Given the description of an element on the screen output the (x, y) to click on. 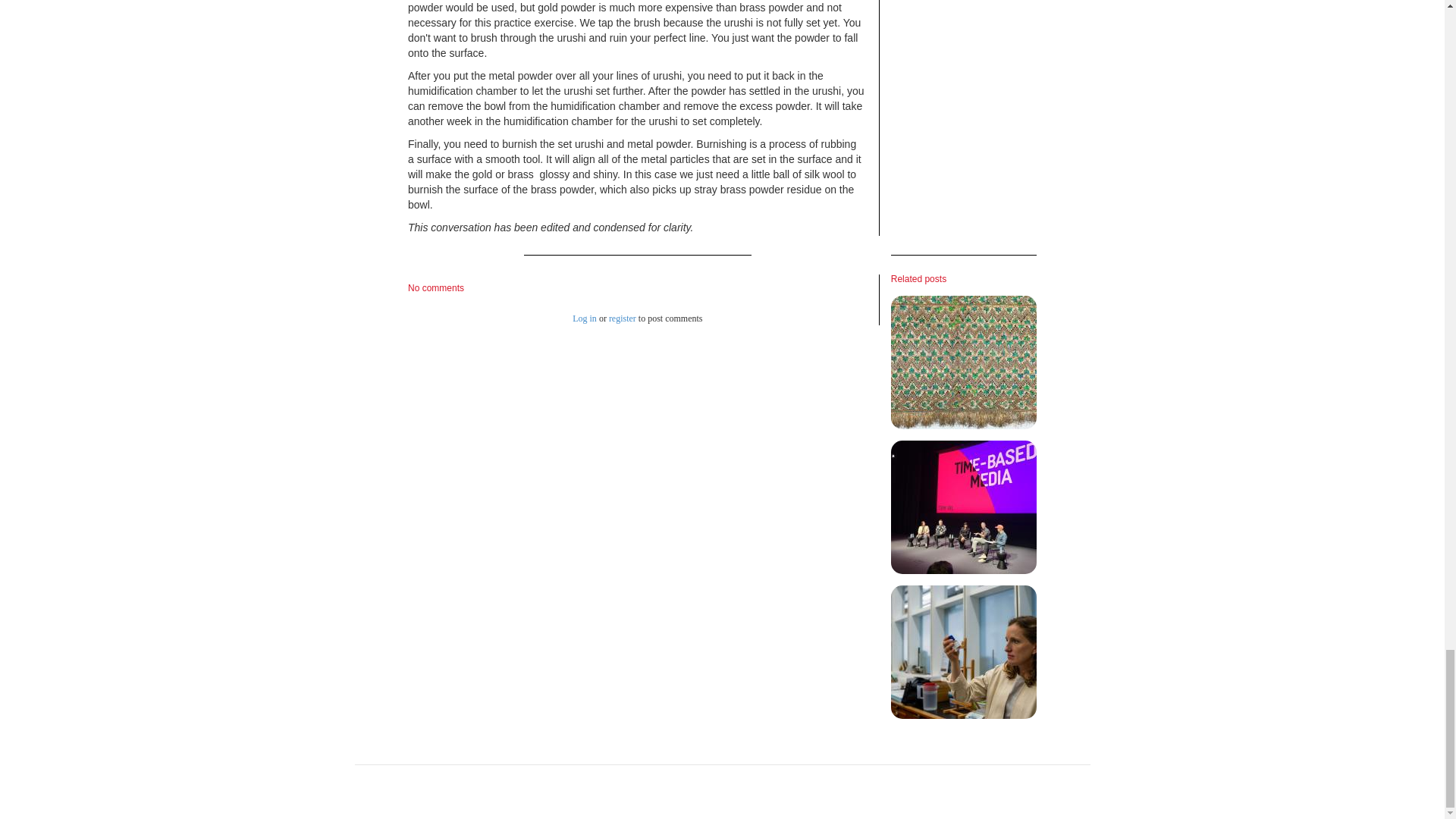
     Nanogels and Nanomaterials in the Field of Conservation (963, 652)
Log in (584, 317)
Here Come the Beetle Wings (963, 362)
register (622, 317)
